Given the description of an element on the screen output the (x, y) to click on. 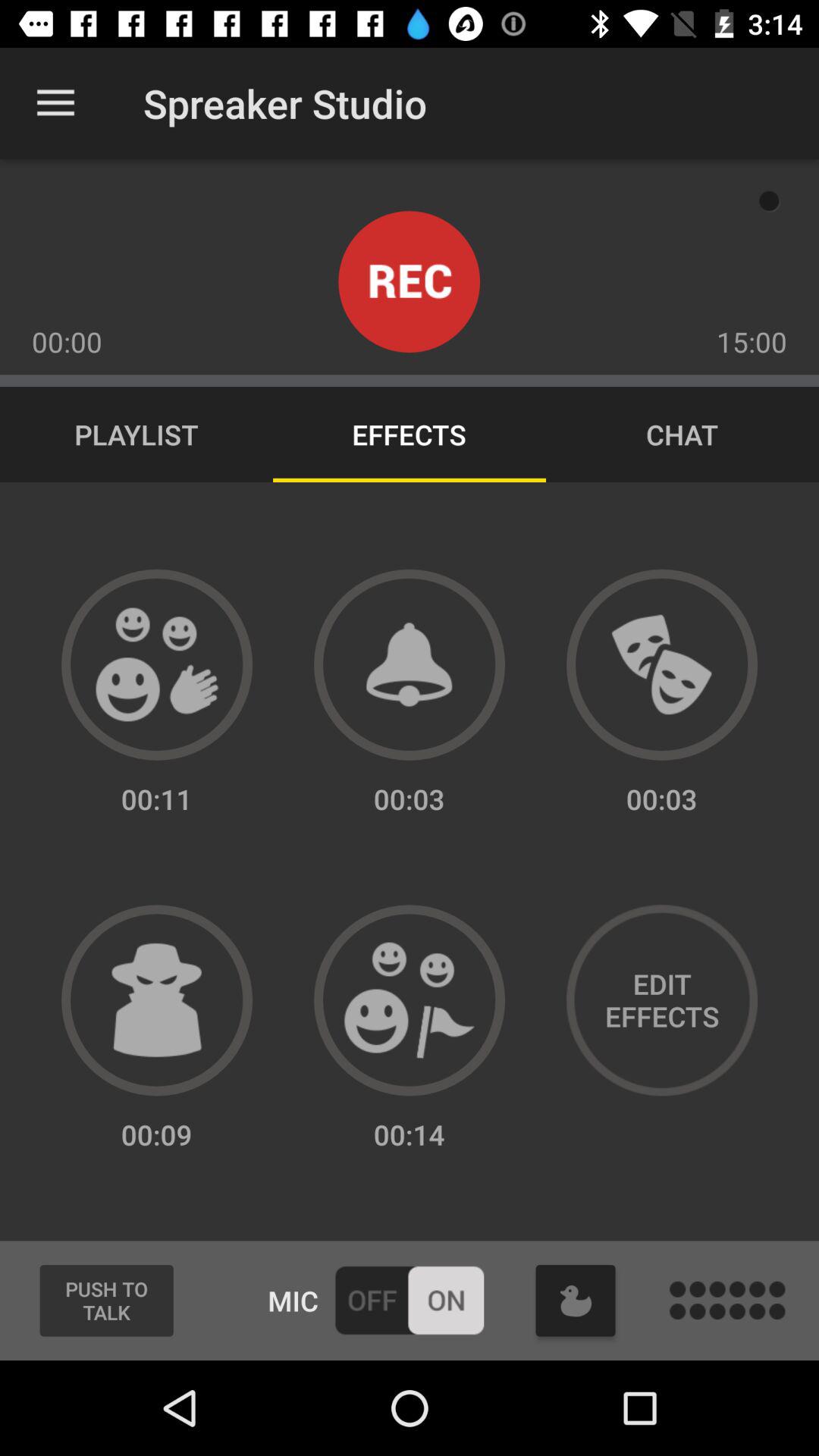
go to spreaker studio (409, 999)
